Given the description of an element on the screen output the (x, y) to click on. 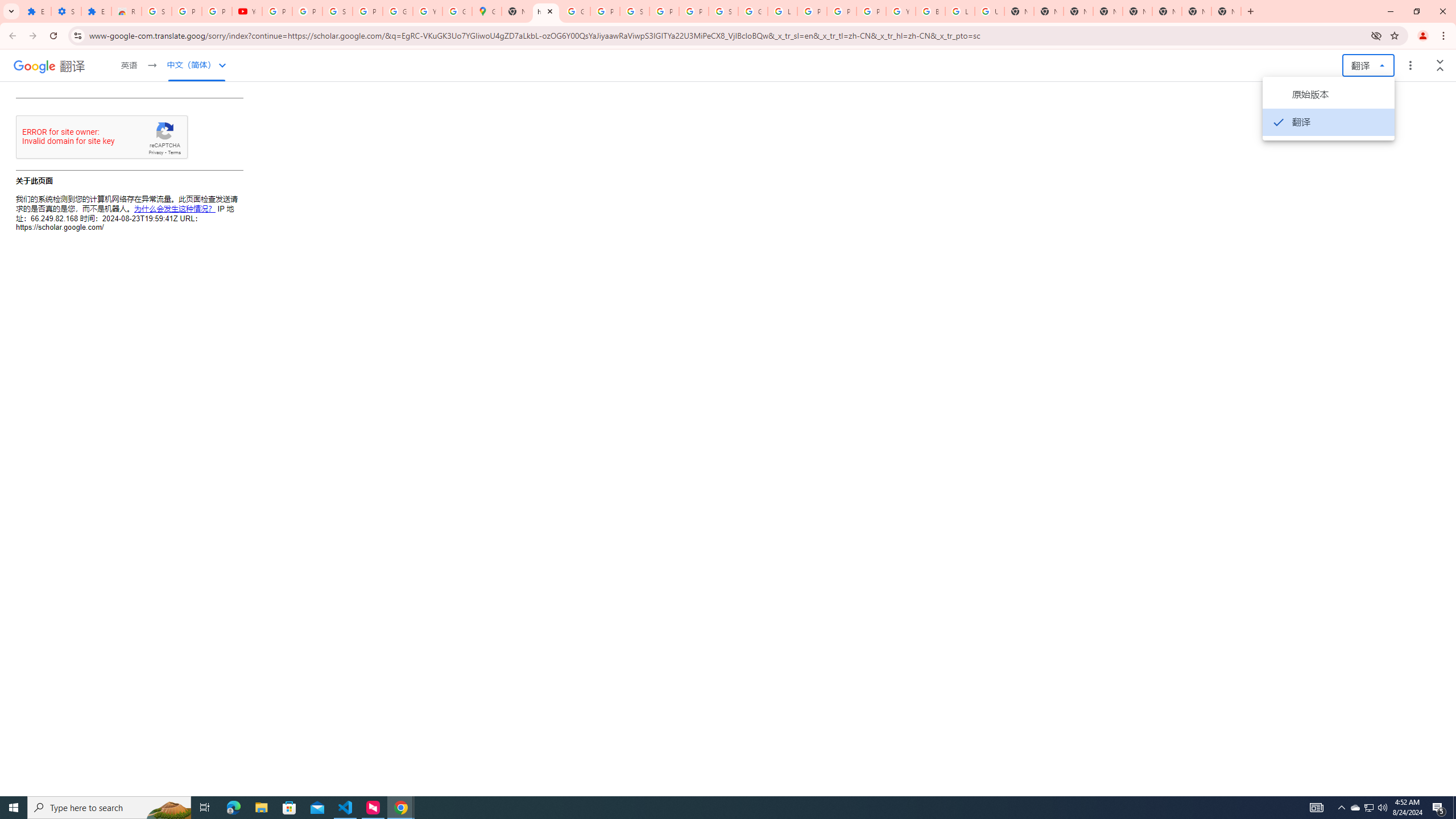
Google Account (397, 11)
Google Maps (486, 11)
